Given the description of an element on the screen output the (x, y) to click on. 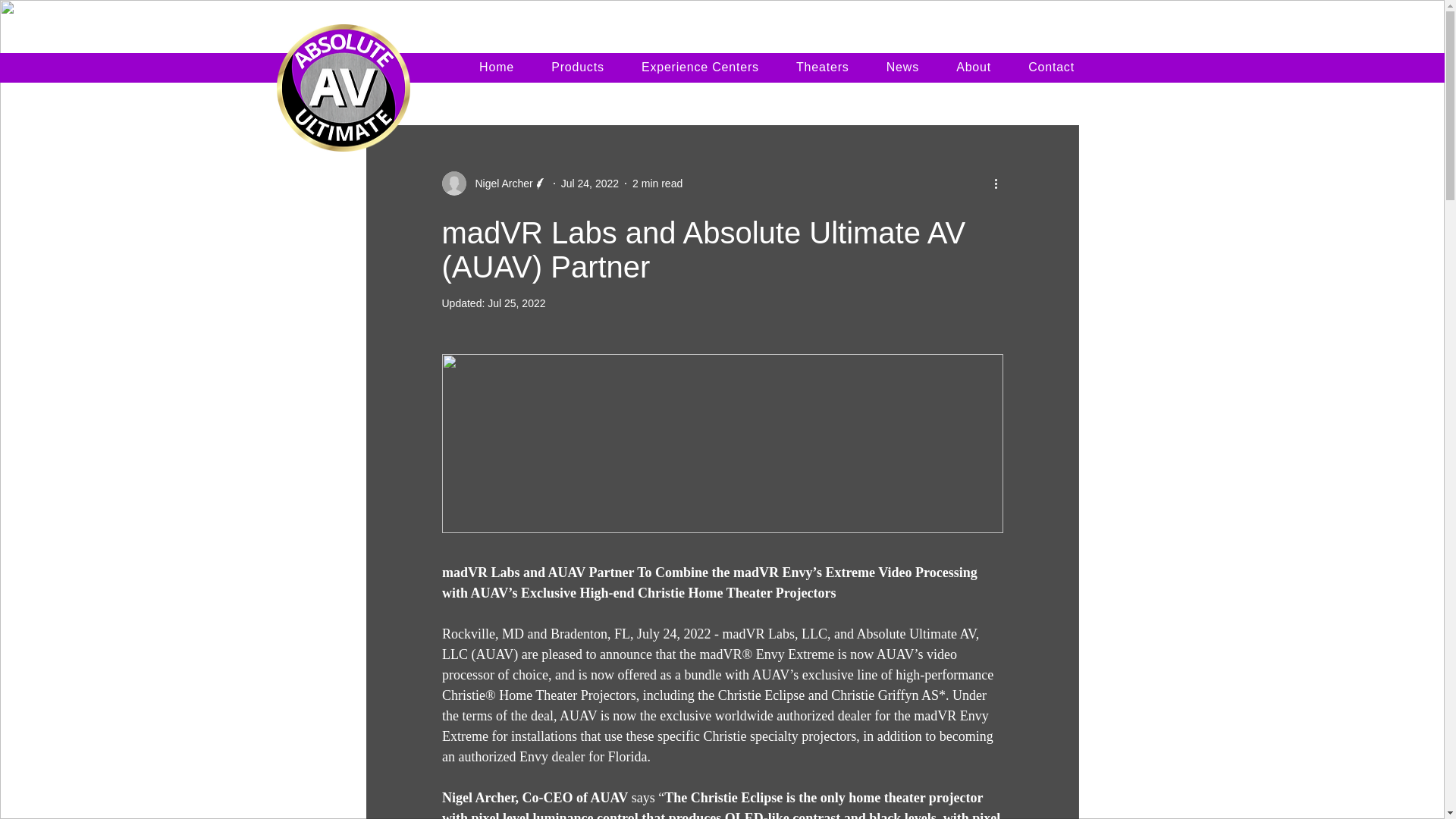
2 min read (656, 183)
Jul 24, 2022 (589, 183)
Theaters (822, 67)
Home (496, 67)
Products (577, 67)
Nigel Archer (494, 183)
Contact (1051, 67)
About (973, 67)
News (902, 67)
Experience Centers (700, 67)
